Given the description of an element on the screen output the (x, y) to click on. 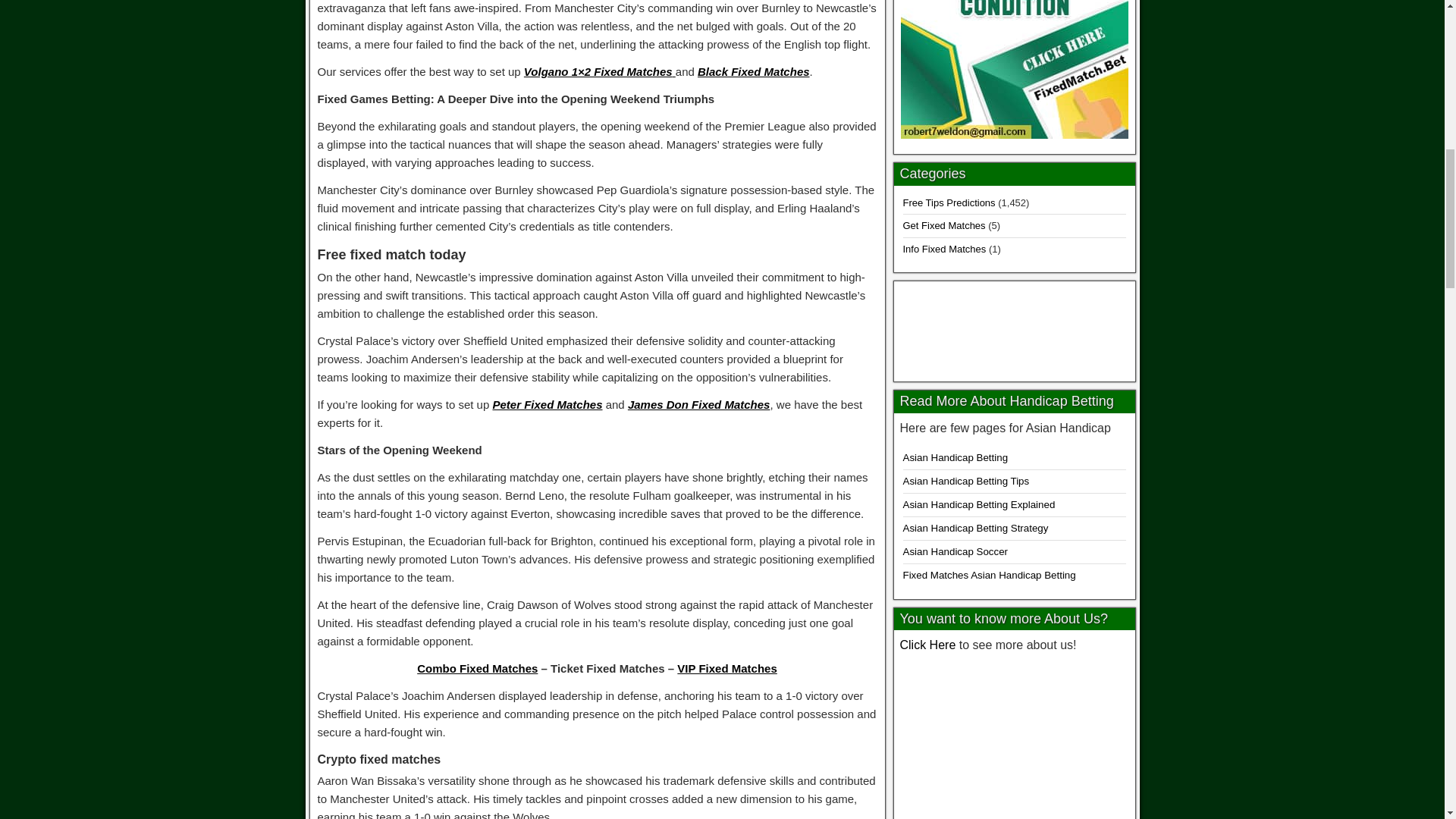
Black Fixed Matches (753, 71)
James Don Fixed Matches (698, 404)
Free Tips Predictions (948, 202)
VIP Fixed Matches (726, 667)
winning tips predictions sources (1013, 738)
fixed matches 1x2 (1014, 328)
Peter Fixed Matches (547, 404)
Combo Fixed Matches (476, 667)
